Given the description of an element on the screen output the (x, y) to click on. 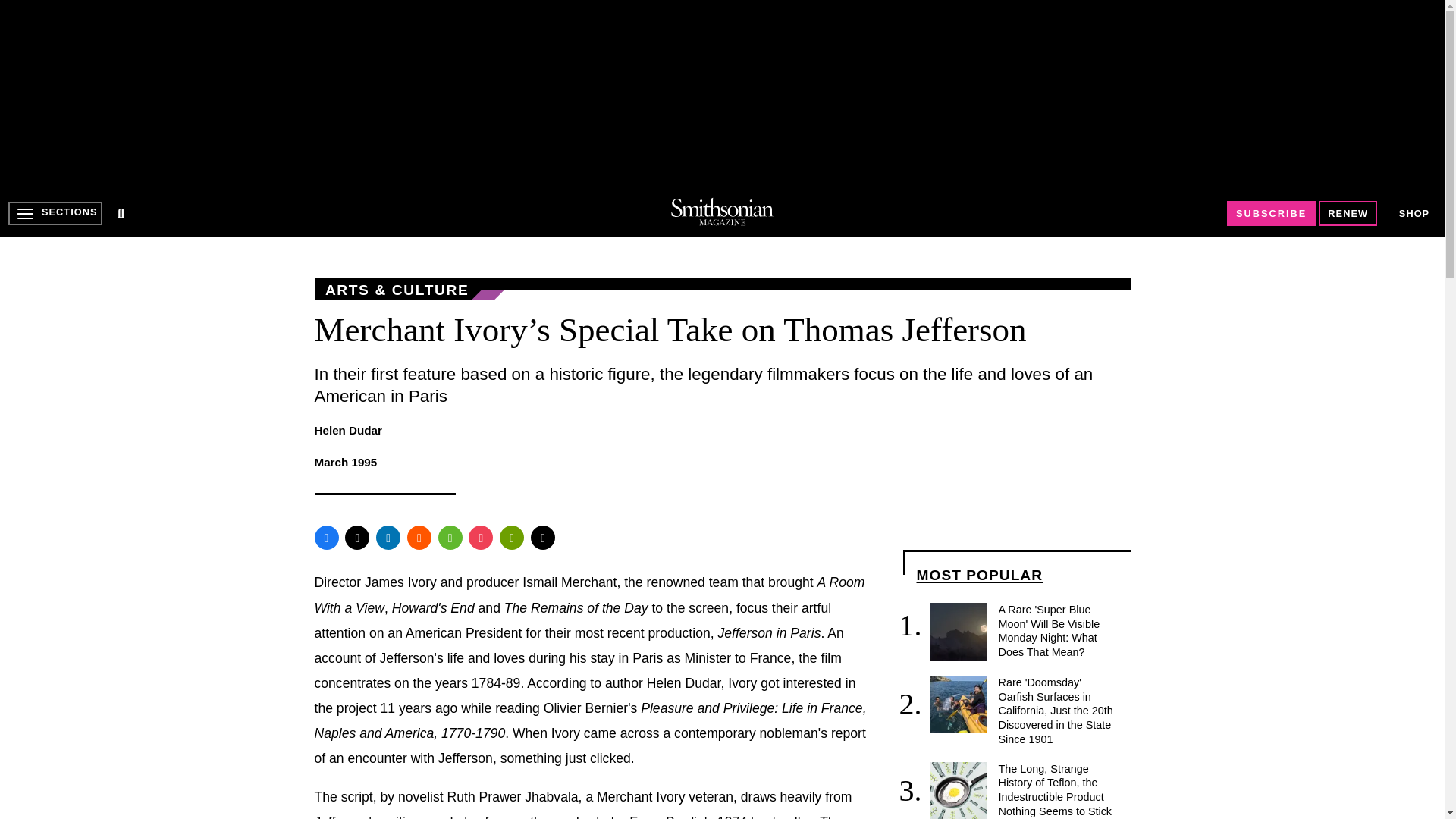
Pocket (480, 537)
Facebook (325, 537)
RENEW (1347, 212)
Reddit (418, 537)
RENEW (1348, 213)
SHOP (1413, 212)
3rd party ad content (721, 94)
SUBSCRIBE (1271, 213)
SUBSCRIBE (1271, 212)
LinkedIn (387, 537)
